Given the description of an element on the screen output the (x, y) to click on. 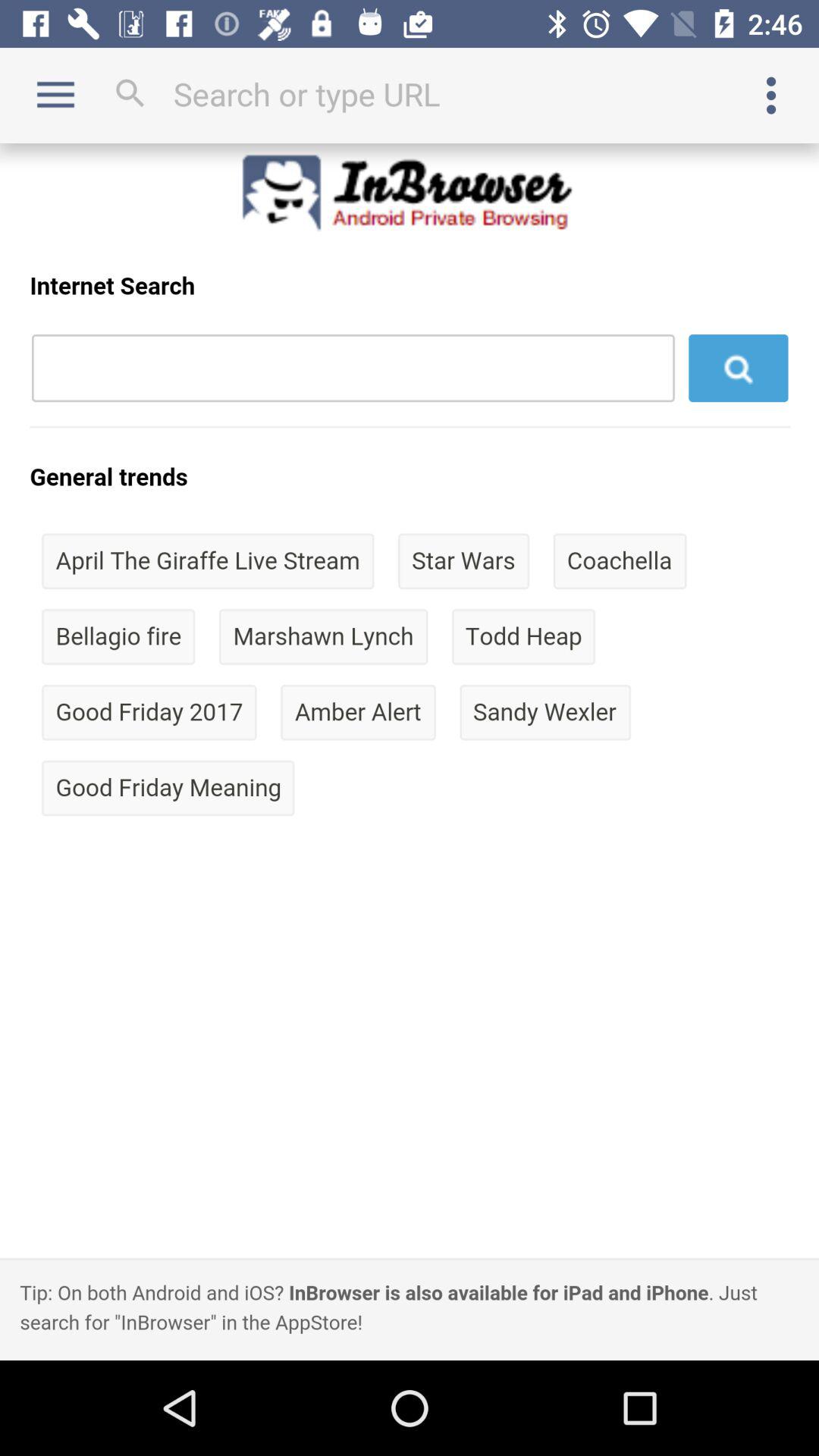
screen page (409, 751)
